Given the description of an element on the screen output the (x, y) to click on. 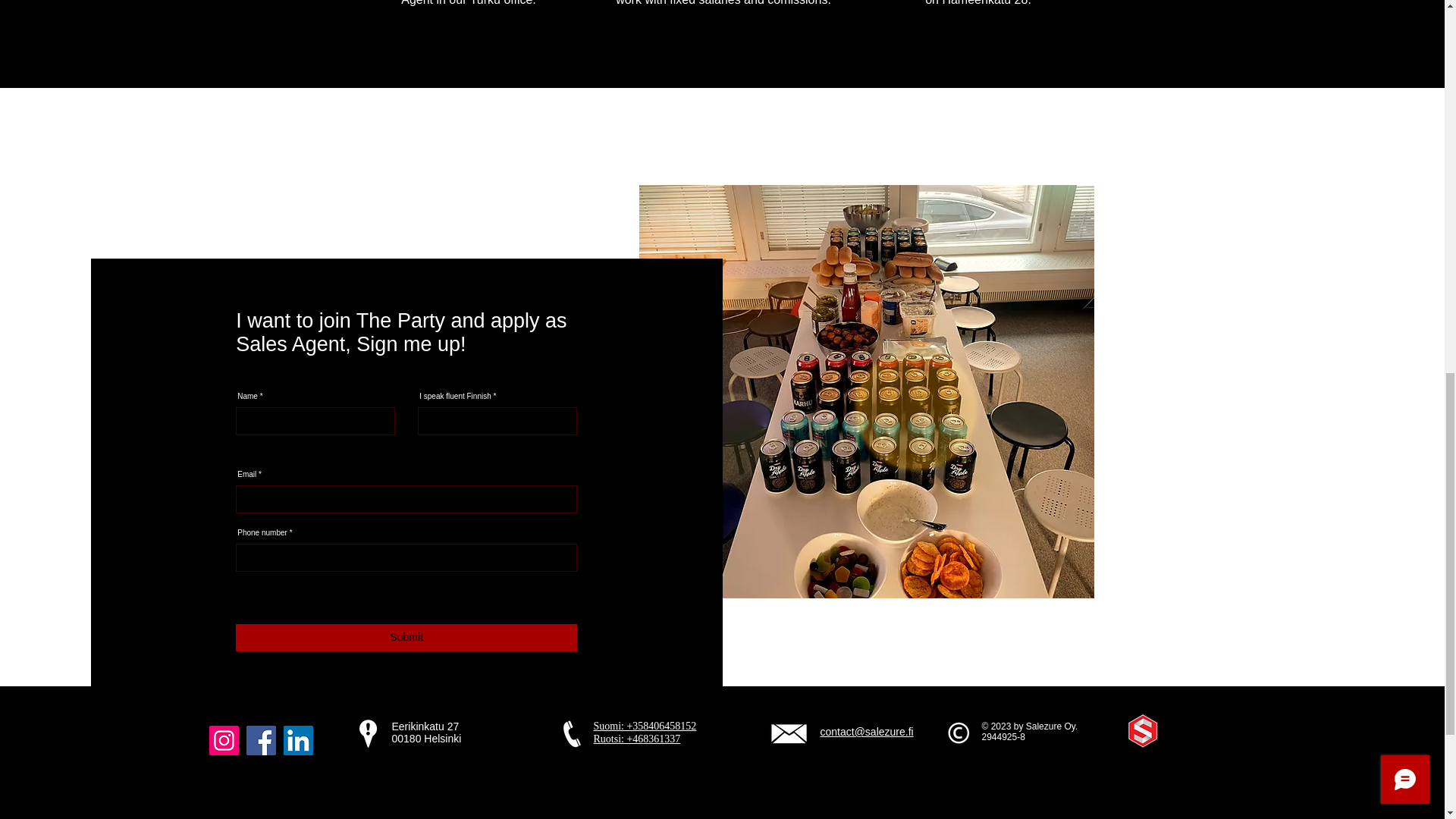
Submit (405, 637)
